Given the description of an element on the screen output the (x, y) to click on. 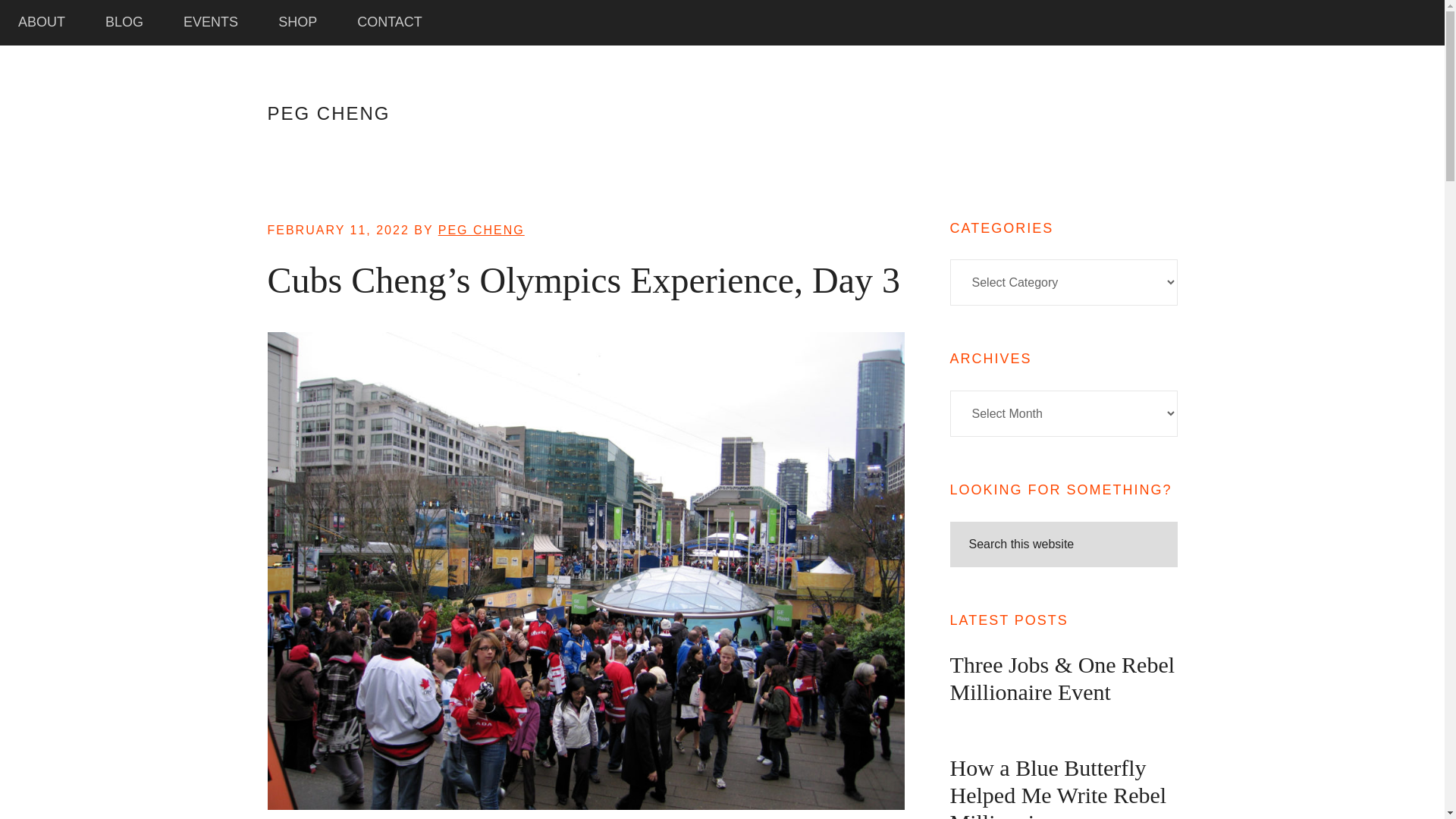
CONTACT (389, 22)
EVENTS (210, 22)
PEG CHENG (328, 113)
ABOUT (41, 22)
How a Blue Butterfly Helped Me Write Rebel Millionaire (1057, 787)
PEG CHENG (481, 229)
